Given the description of an element on the screen output the (x, y) to click on. 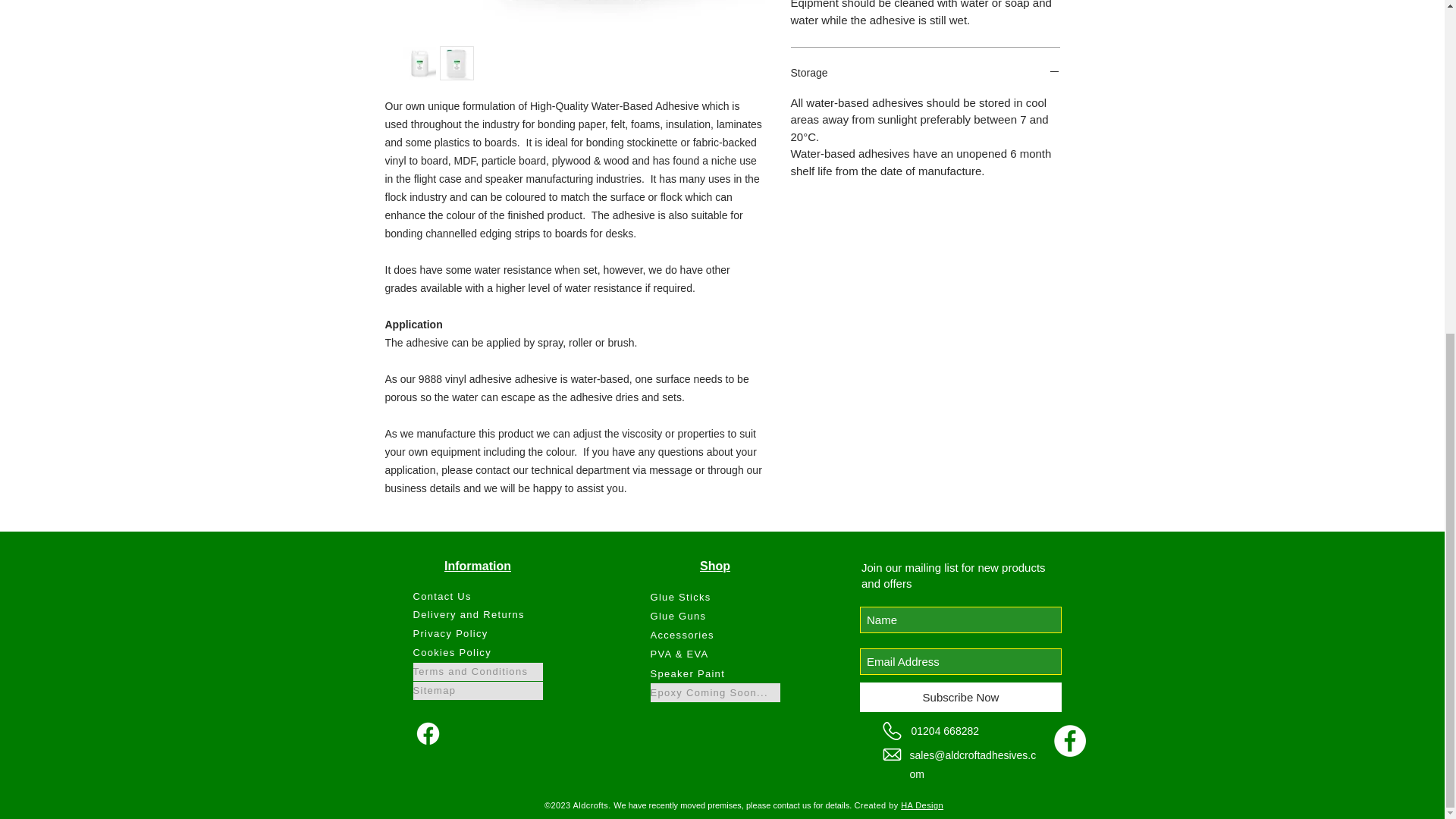
Epoxy Coming Soon... (715, 692)
Storage (924, 73)
Privacy Policy (476, 633)
Wix Get Subscribers (960, 633)
Cookies Policy (476, 652)
Speaker Paint (715, 673)
Glue Guns (715, 615)
HA Design (922, 804)
Contact Us (476, 597)
Glue Sticks (715, 597)
